Given the description of an element on the screen output the (x, y) to click on. 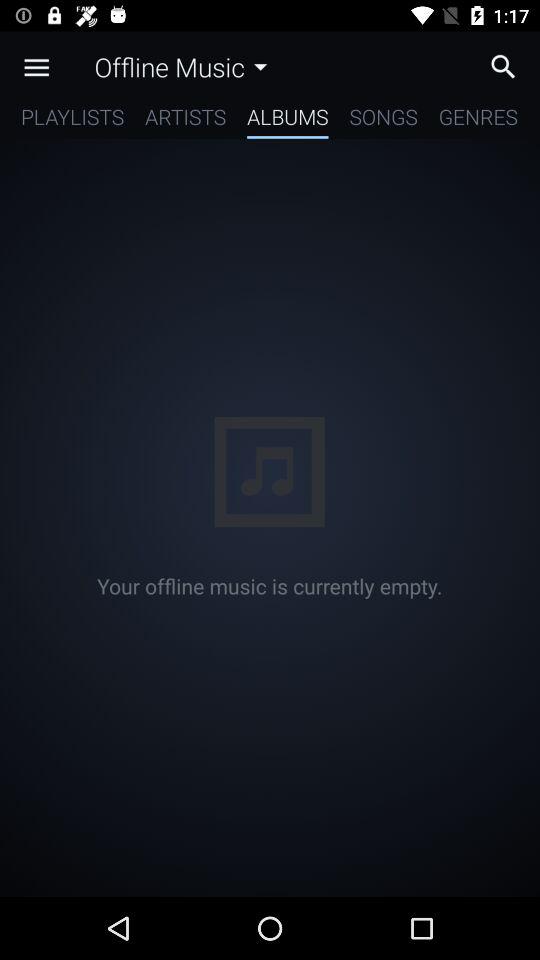
open icon next to the albums icon (185, 120)
